Given the description of an element on the screen output the (x, y) to click on. 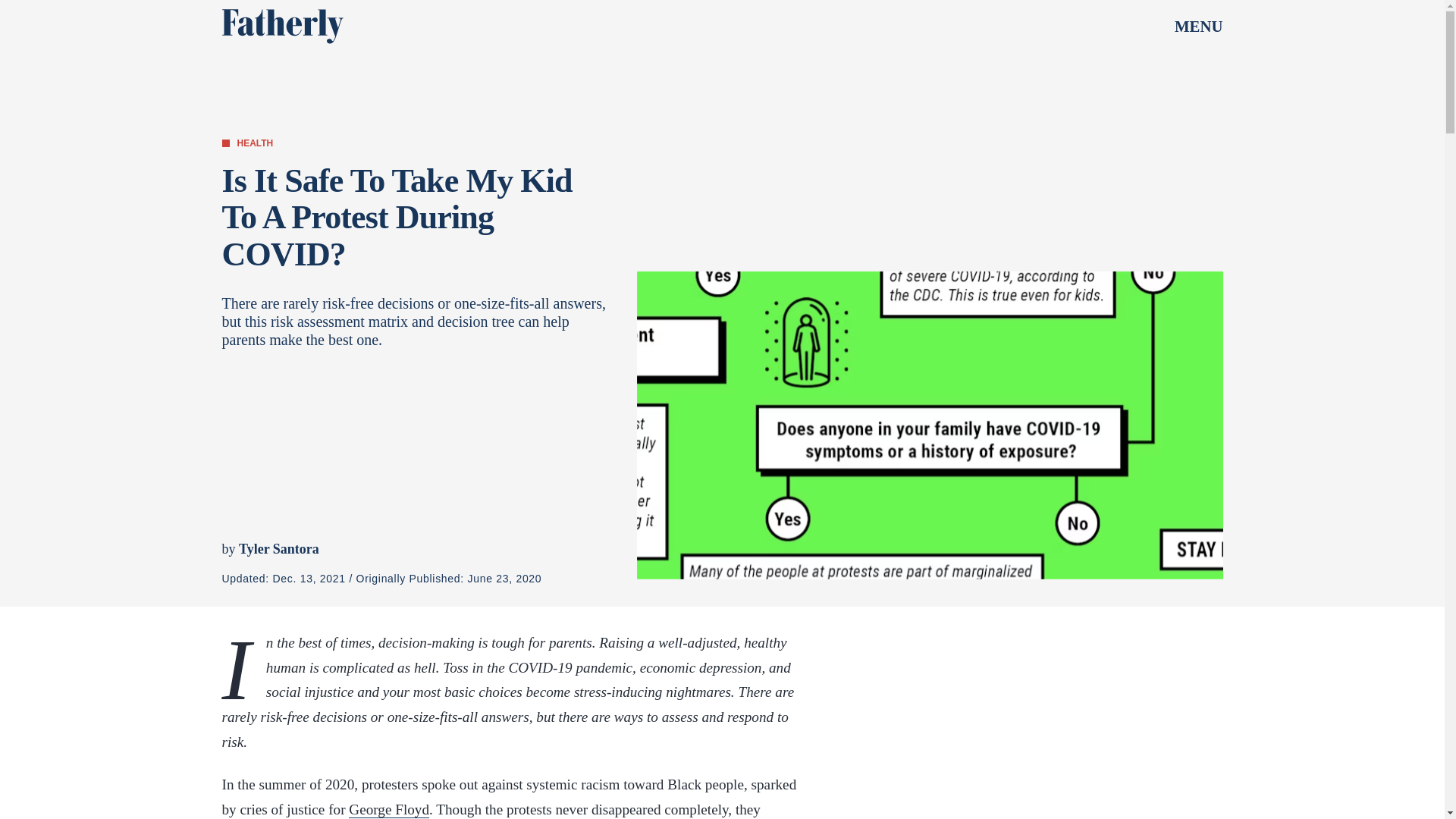
George Floyd (389, 809)
Fatherly (281, 26)
Tyler Santora (278, 548)
